Given the description of an element on the screen output the (x, y) to click on. 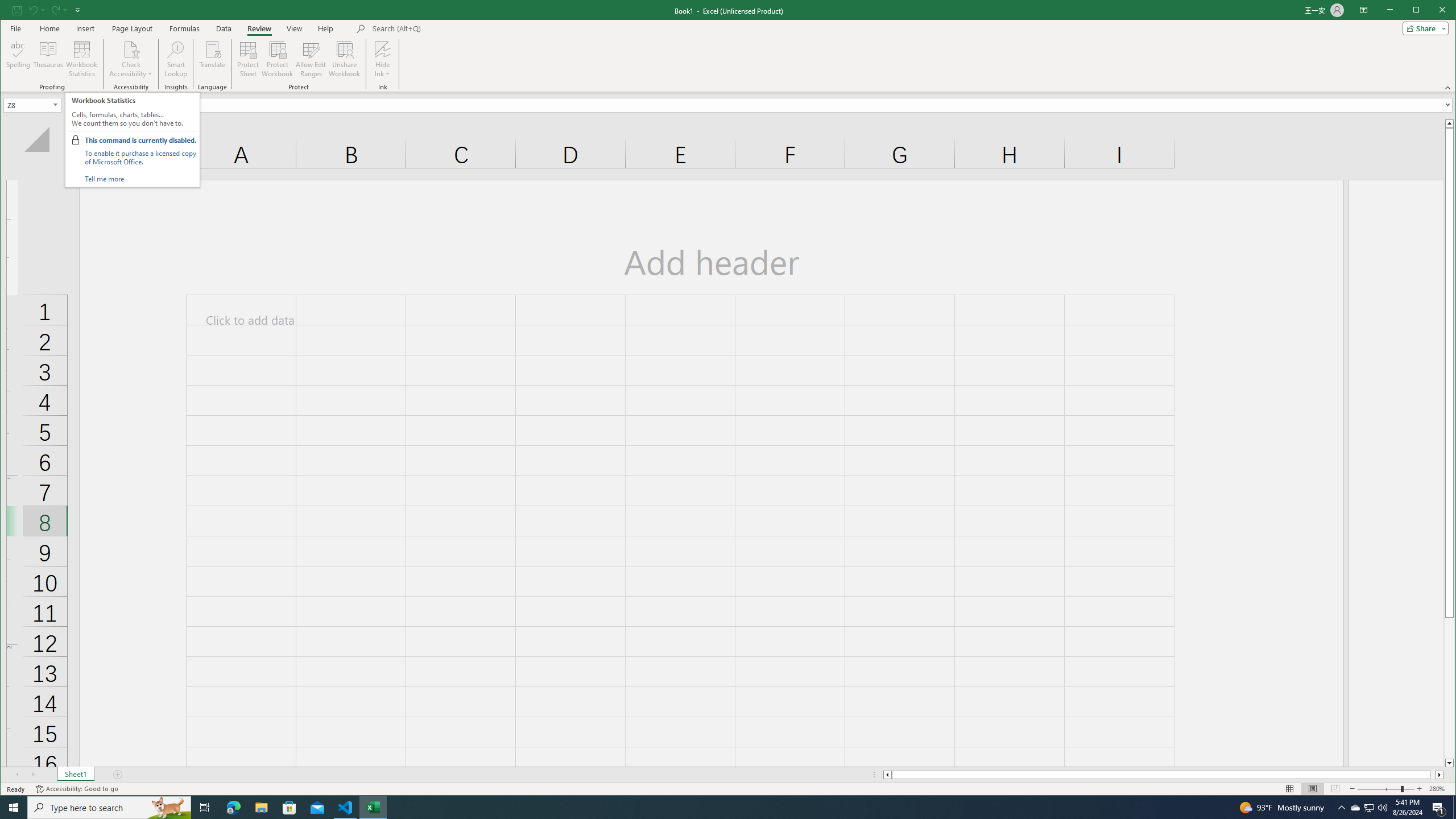
Name Box (32, 105)
Type here to search (108, 807)
Page down (1449, 687)
Microsoft Edge (1355, 807)
Protect Sheet... (233, 807)
Open (247, 59)
Task View (55, 105)
Data (204, 807)
